Given the description of an element on the screen output the (x, y) to click on. 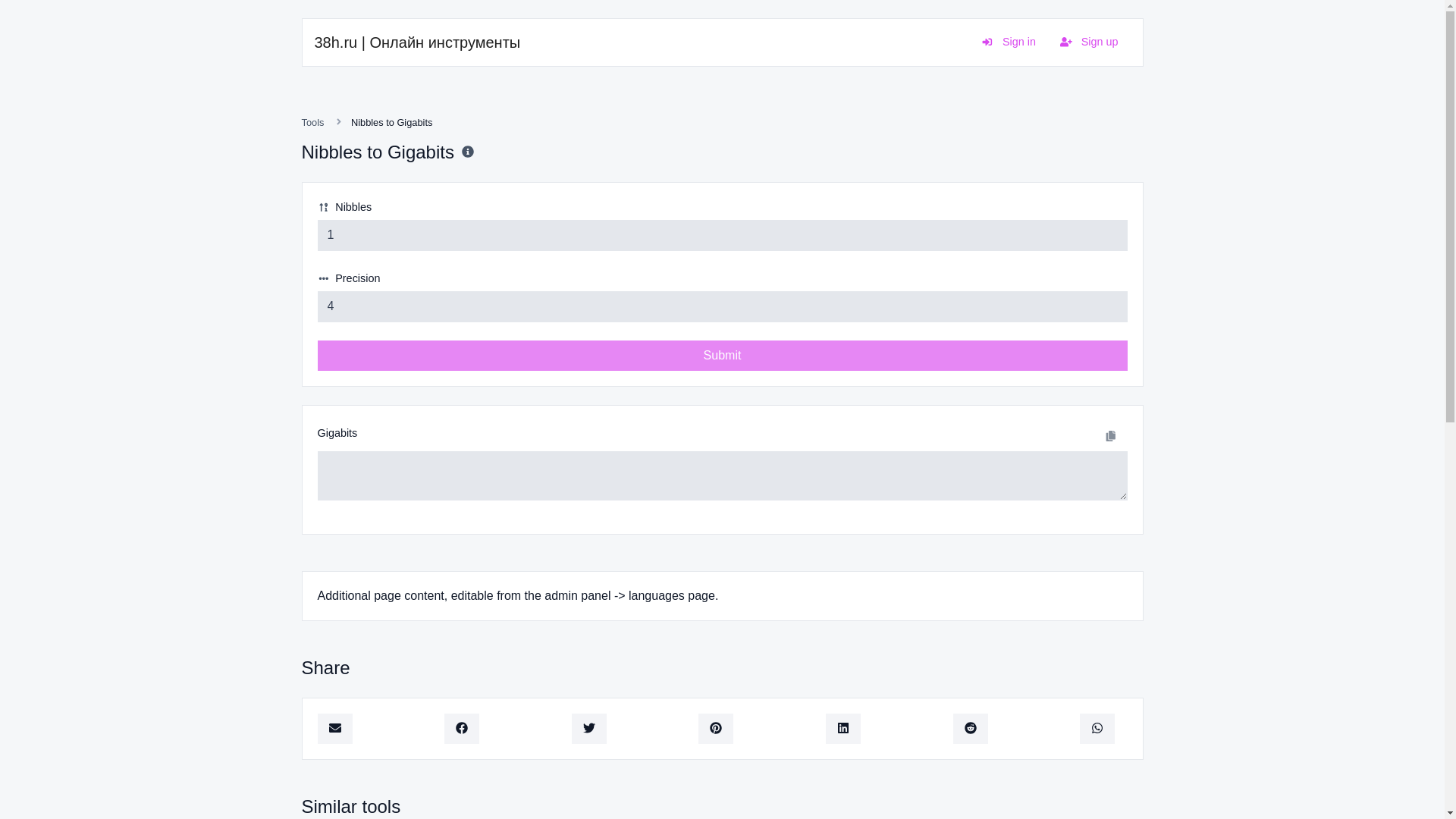
Sign up (1089, 42)
Sign in (1008, 42)
4 (721, 306)
1 (721, 235)
Tools (312, 122)
Submit (721, 355)
